Given the description of an element on the screen output the (x, y) to click on. 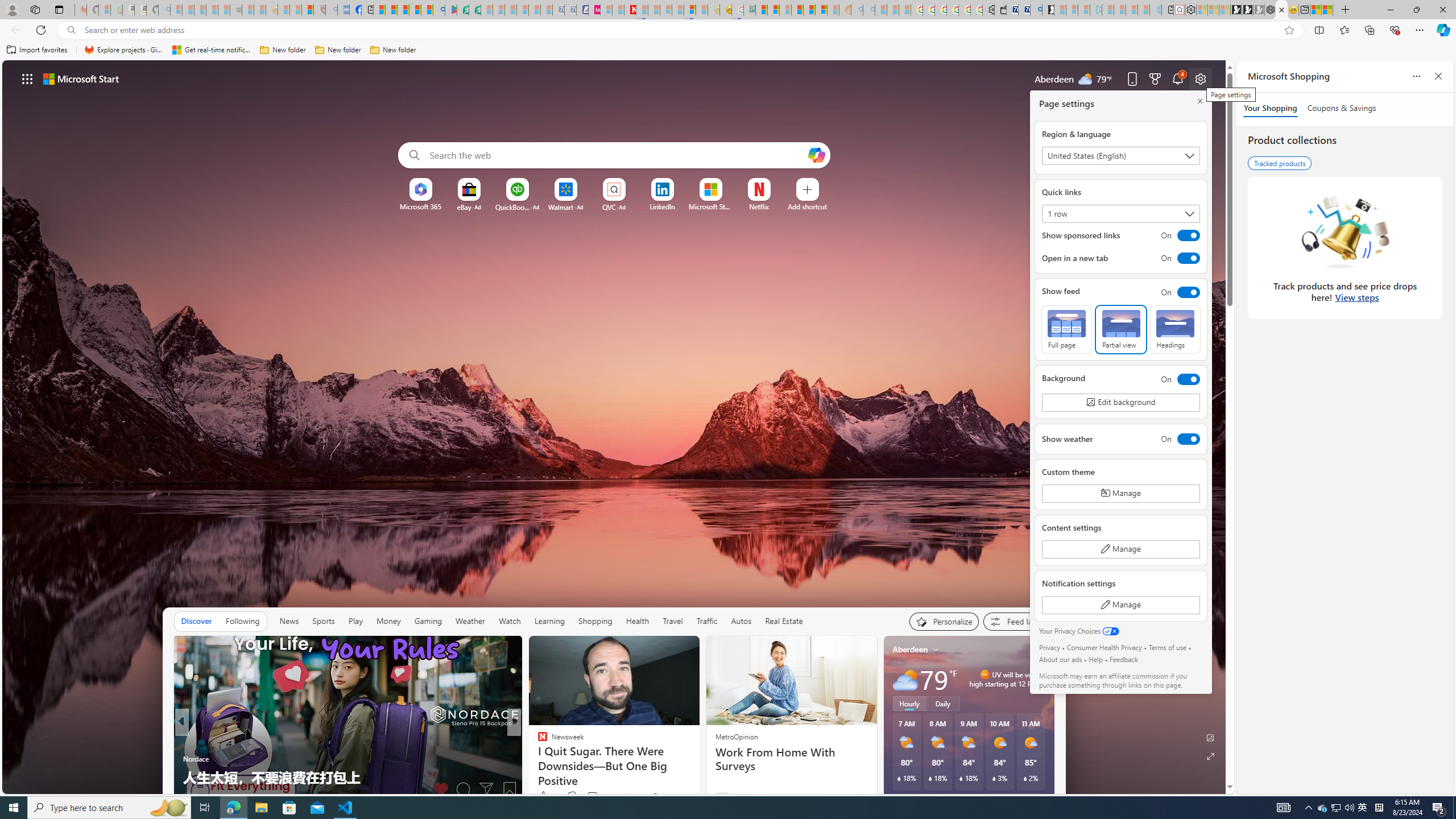
Click to Edit Background (1120, 402)
Search icon (70, 29)
Real Estate (783, 621)
next (1047, 722)
LinkedIn (662, 206)
Microsoft start (81, 78)
You're following Newsweek (670, 795)
